Given the description of an element on the screen output the (x, y) to click on. 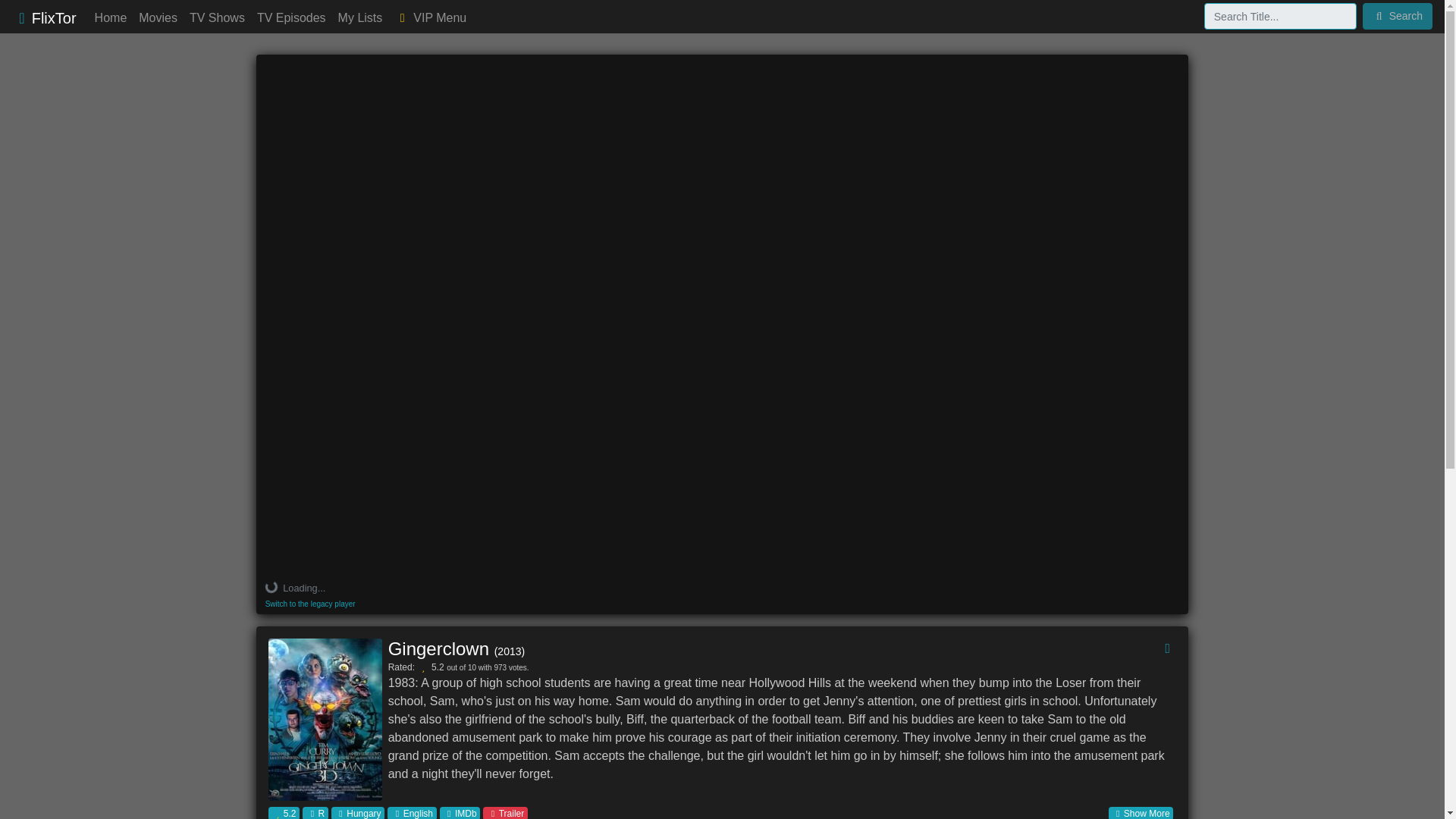
VIP Menu (429, 18)
Show More (1140, 812)
Movies (157, 18)
TV Episodes (290, 18)
TV Shows (216, 18)
US Content Rating (315, 812)
Open IMDb (459, 812)
Watch YouTube Trailer (505, 812)
Production Country (357, 812)
Search (1397, 16)
Home (110, 18)
Spoken Language (411, 812)
IMDb (459, 812)
Rated 5.2 out of 10 with 973 votes. (283, 812)
My Lists (359, 18)
